Given the description of an element on the screen output the (x, y) to click on. 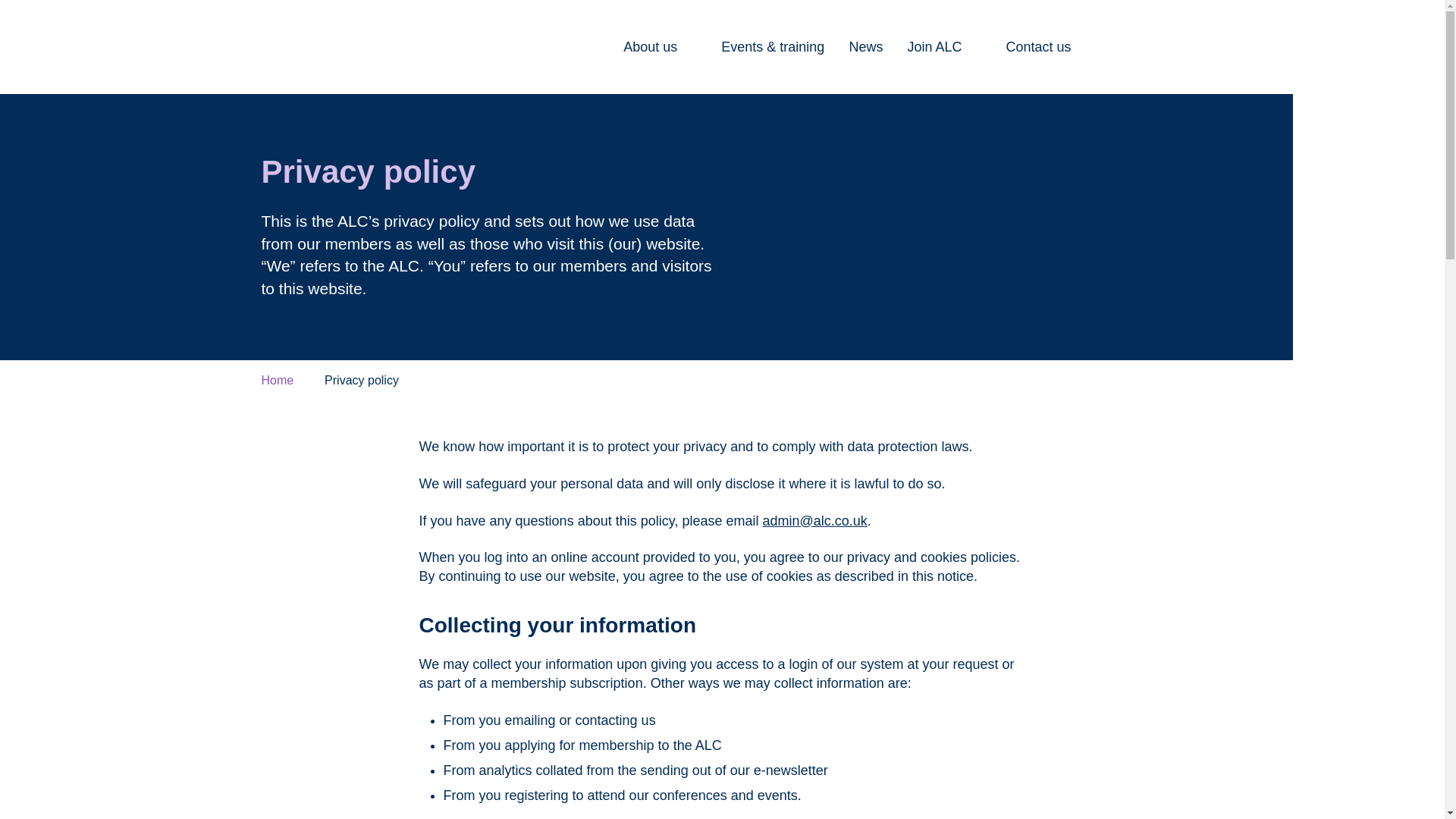
About us (660, 47)
News (865, 47)
Contact us (1038, 47)
Join ALC (944, 47)
Search (1173, 46)
LinkedIn (1141, 47)
Home (277, 379)
Twitter (1106, 47)
Association of Lawyers for Children (393, 46)
